Given the description of an element on the screen output the (x, y) to click on. 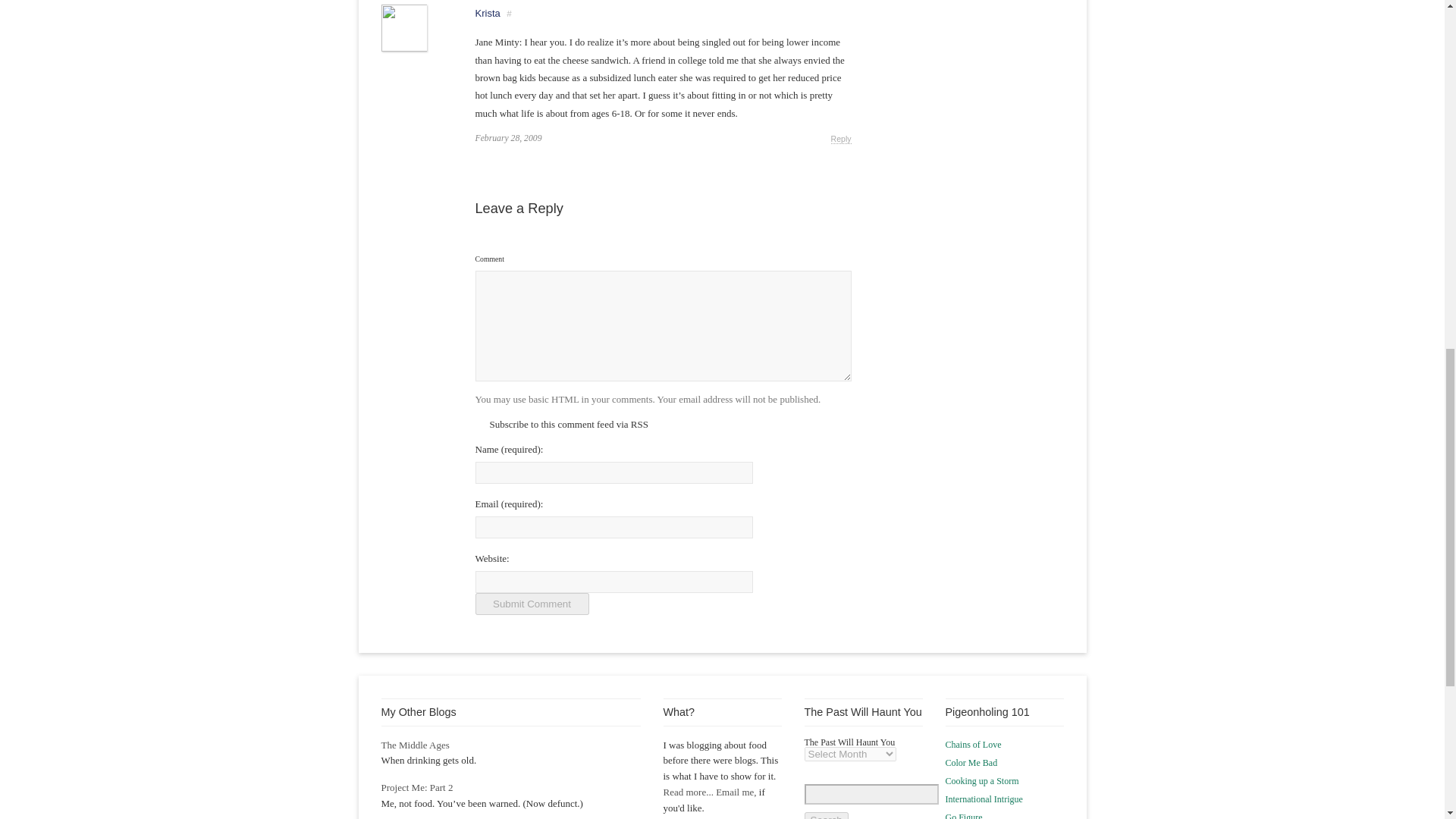
Submit Comment (531, 603)
Search (825, 815)
